Given the description of an element on the screen output the (x, y) to click on. 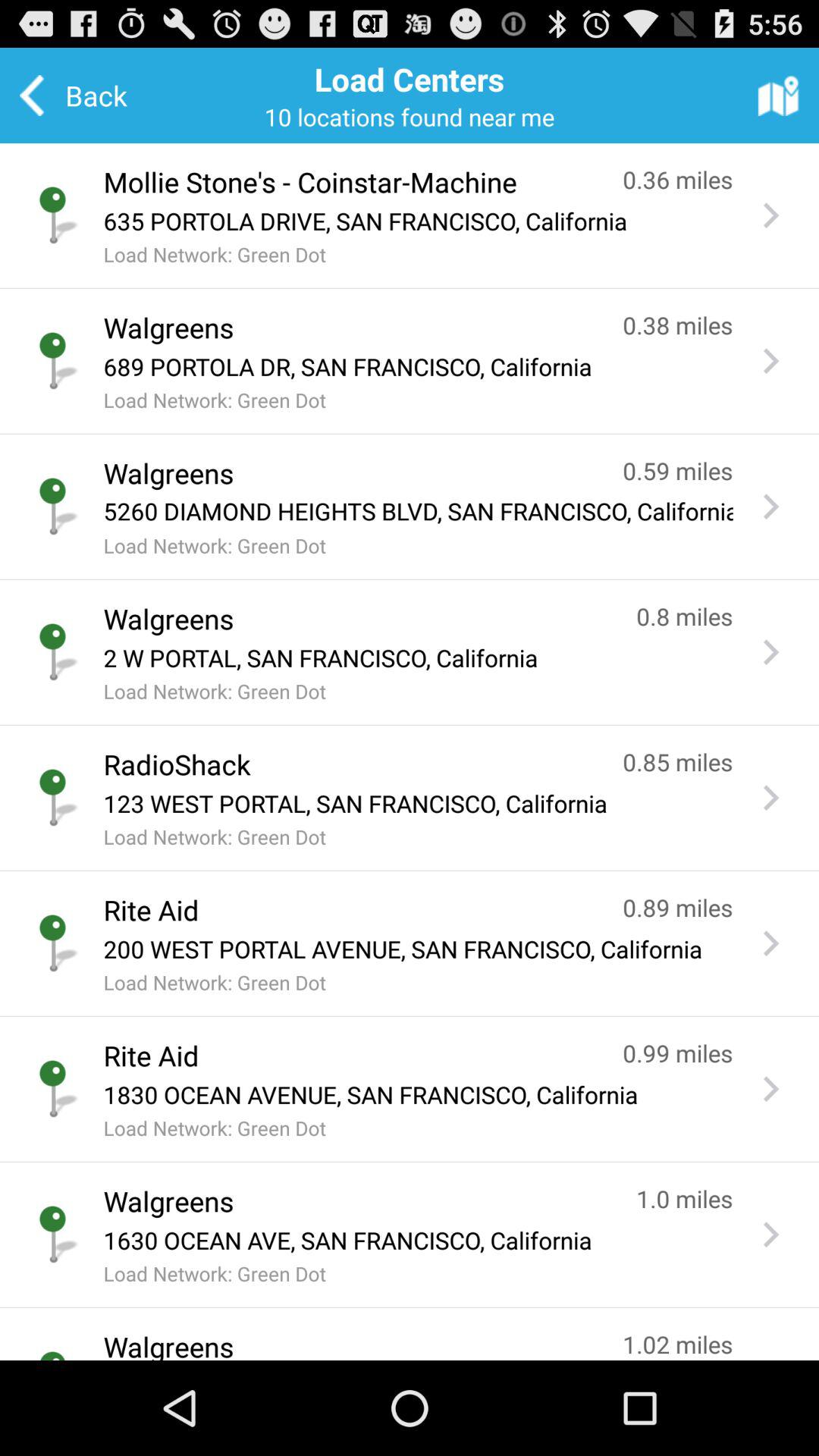
tap the icon above 635 portola drive icon (347, 181)
